Given the description of an element on the screen output the (x, y) to click on. 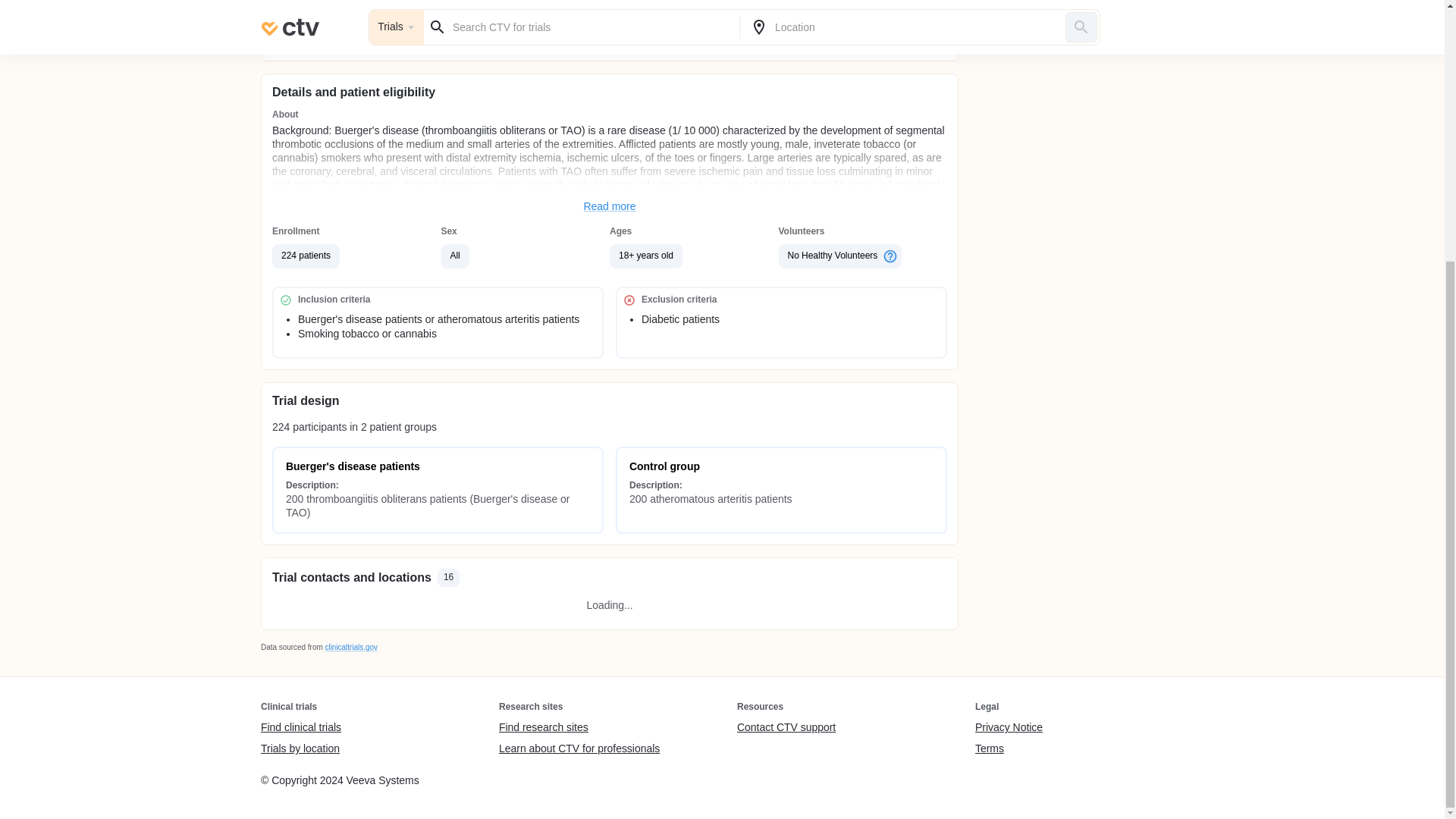
Find clinical trials (300, 727)
Contact CTV support (785, 727)
Take notes (438, 34)
Privacy Notice (1008, 727)
View 16 locations (780, 34)
Trials by location (300, 748)
Read more (609, 206)
clinicaltrials.gov (350, 646)
Find research sites (579, 727)
Learn about CTV for professionals (579, 748)
